Given the description of an element on the screen output the (x, y) to click on. 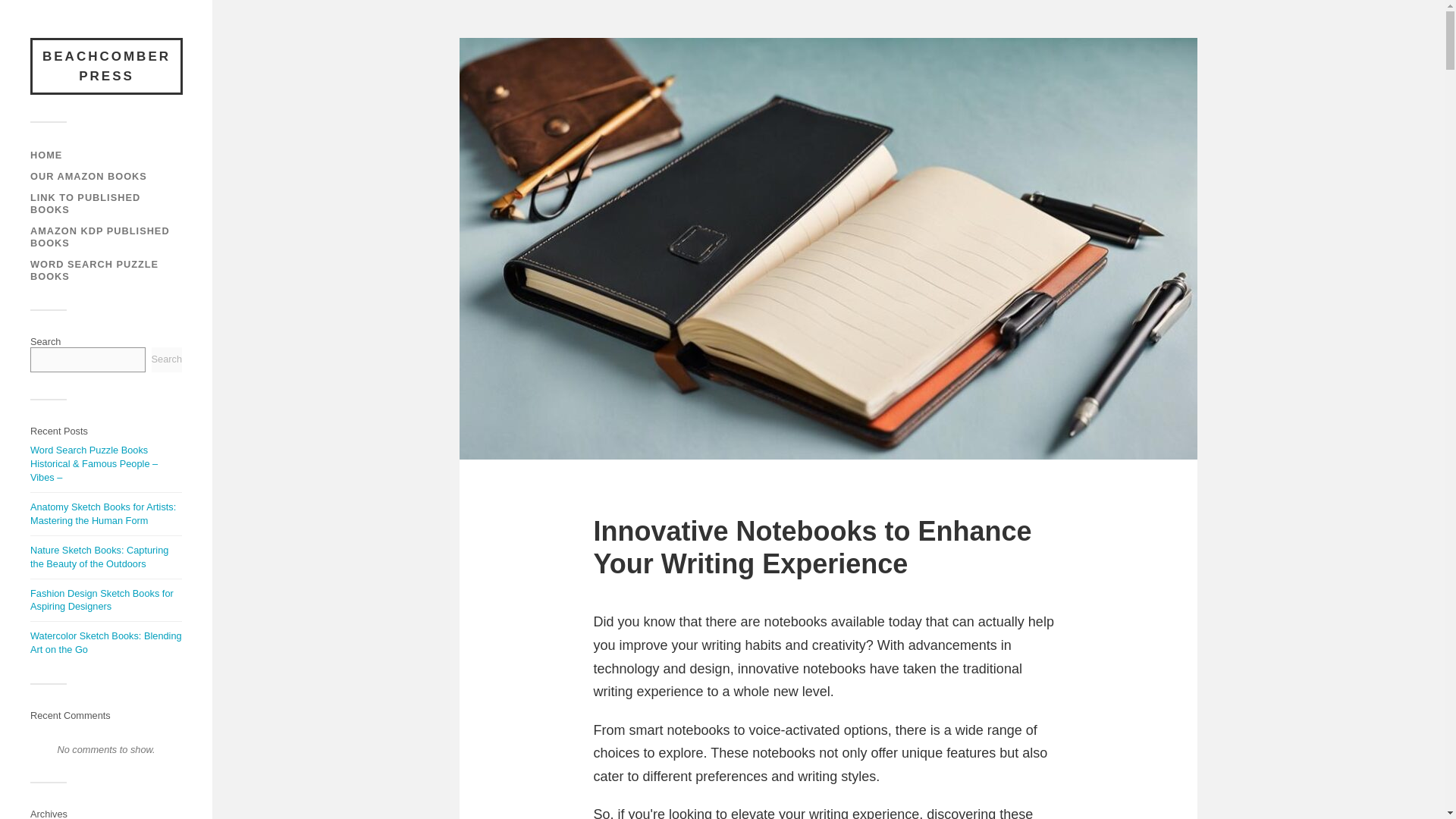
AMAZON KDP PUBLISHED BOOKS (100, 236)
Nature Sketch Books: Capturing the Beauty of the Outdoors (99, 556)
Anatomy Sketch Books for Artists: Mastering the Human Form (103, 513)
HOME (46, 154)
Fashion Design Sketch Books for Aspiring Designers (101, 600)
OUR AMAZON BOOKS (88, 175)
Watercolor Sketch Books: Blending Art on the Go (106, 642)
Search (166, 359)
WORD SEARCH PUZZLE BOOKS (94, 269)
LINK TO PUBLISHED BOOKS (84, 203)
BEACHCOMBER PRESS (106, 66)
